Given the description of an element on the screen output the (x, y) to click on. 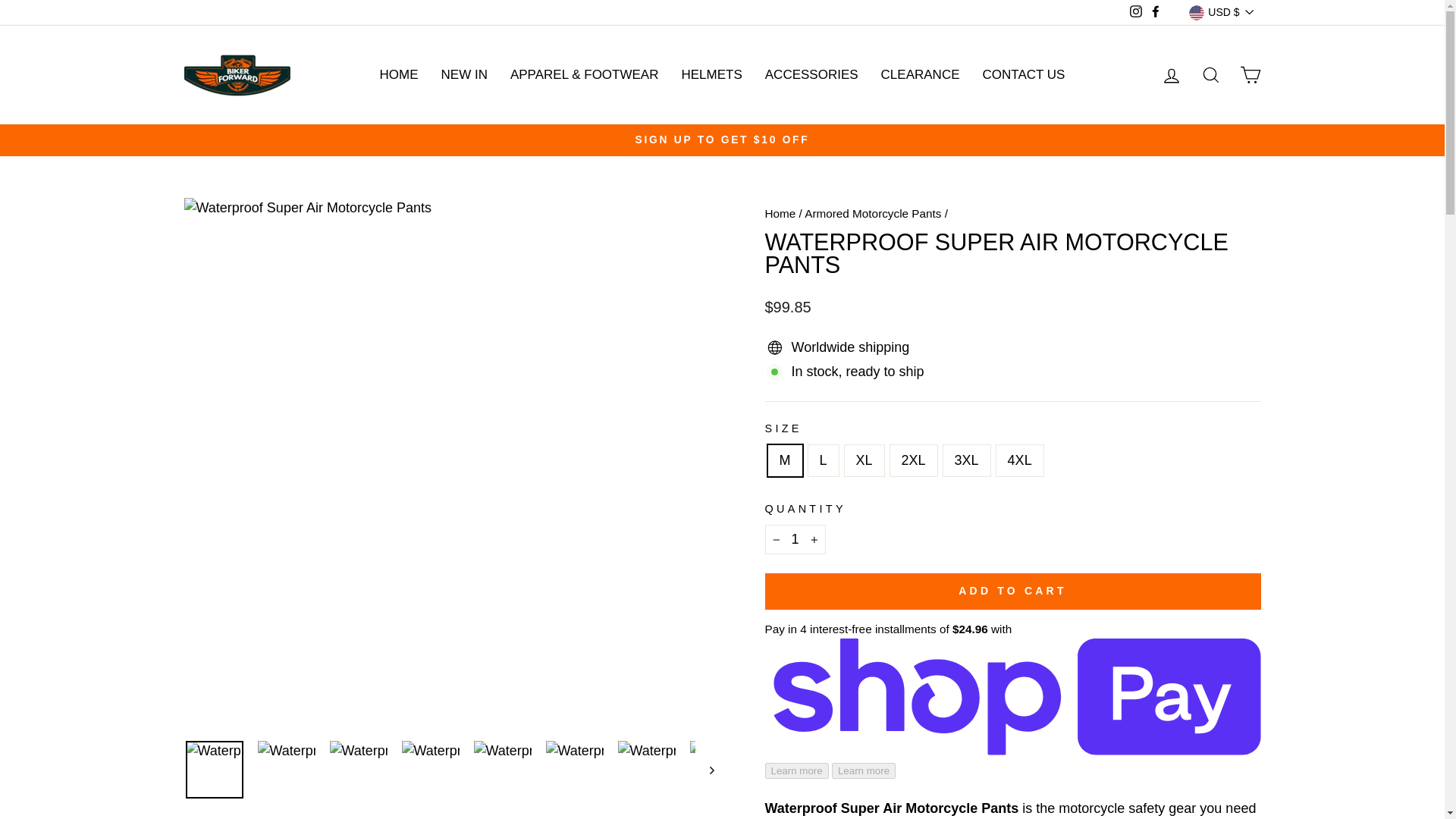
Biker Forward on Facebook (1155, 12)
Back to the frontpage (779, 213)
Biker Forward on Instagram (1135, 12)
1 (794, 539)
